Given the description of an element on the screen output the (x, y) to click on. 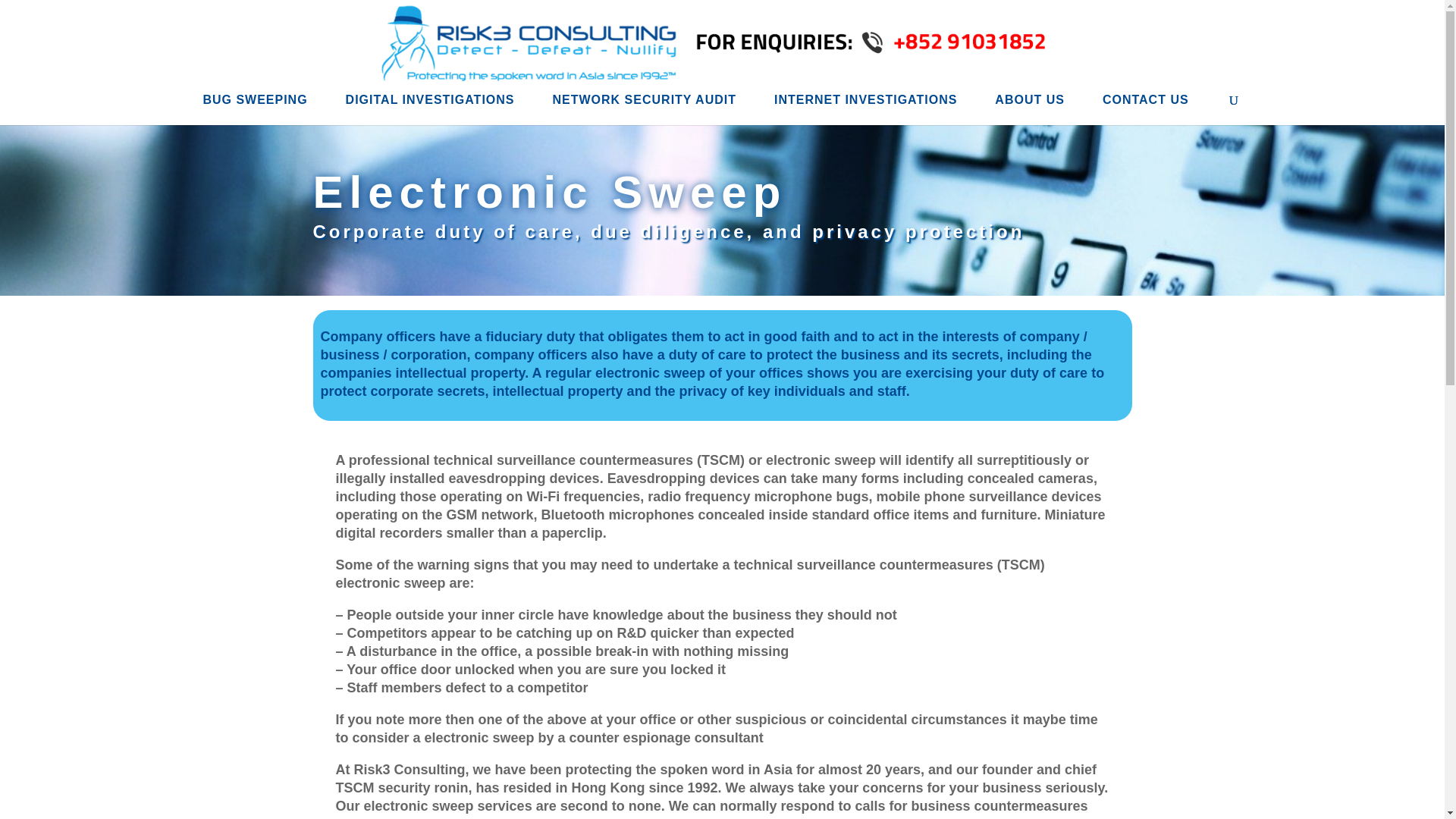
INTERNET INVESTIGATIONS (865, 108)
DIGITAL INVESTIGATIONS (430, 108)
ABOUT US (1029, 108)
CONTACT US (1145, 108)
NETWORK SECURITY AUDIT (644, 108)
BUG SWEEPING (254, 108)
